Given the description of an element on the screen output the (x, y) to click on. 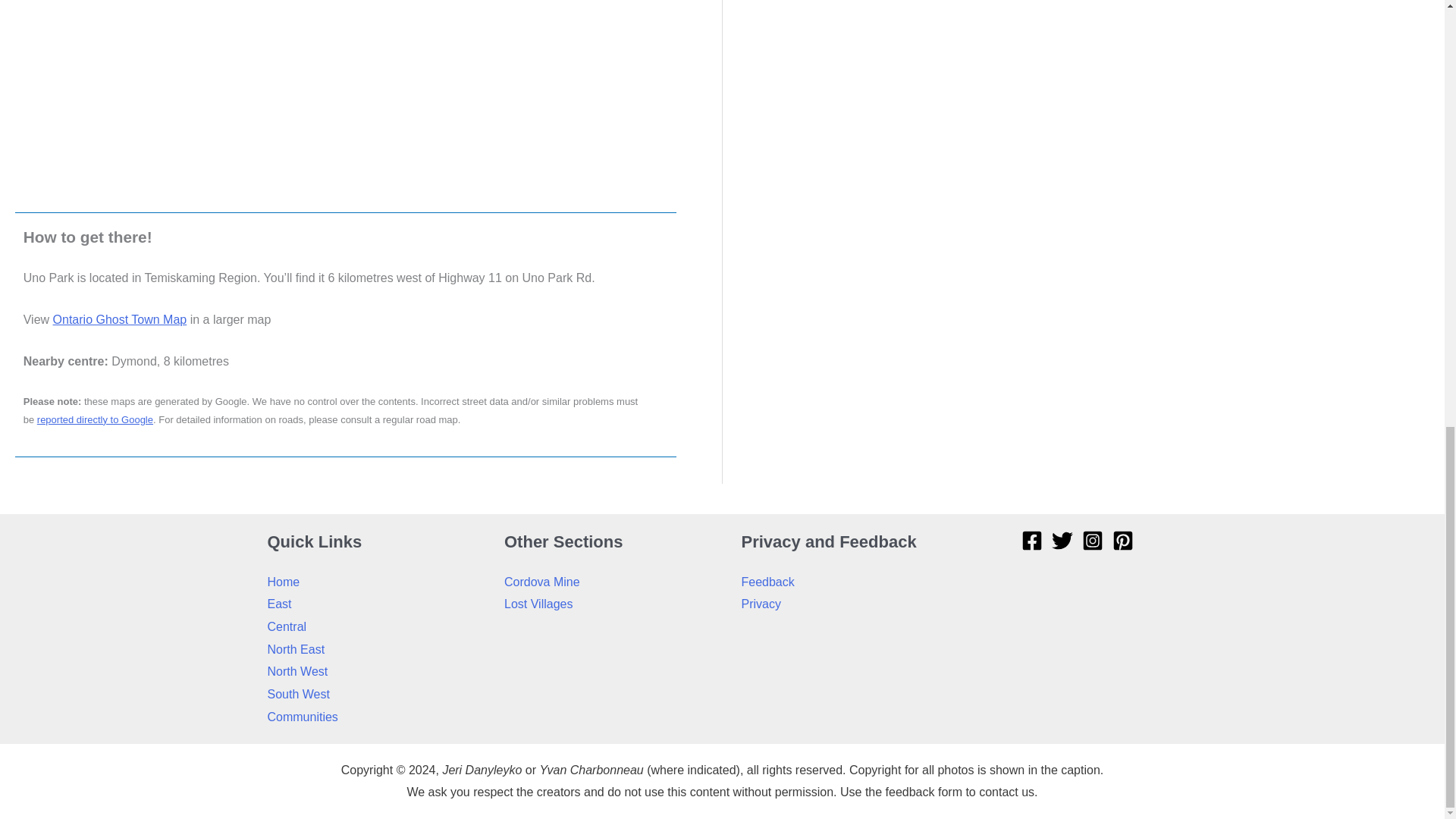
Central (285, 626)
Home (282, 581)
East (278, 603)
Ontario Ghost Town Map (119, 318)
reported directly to Google (94, 419)
